Given the description of an element on the screen output the (x, y) to click on. 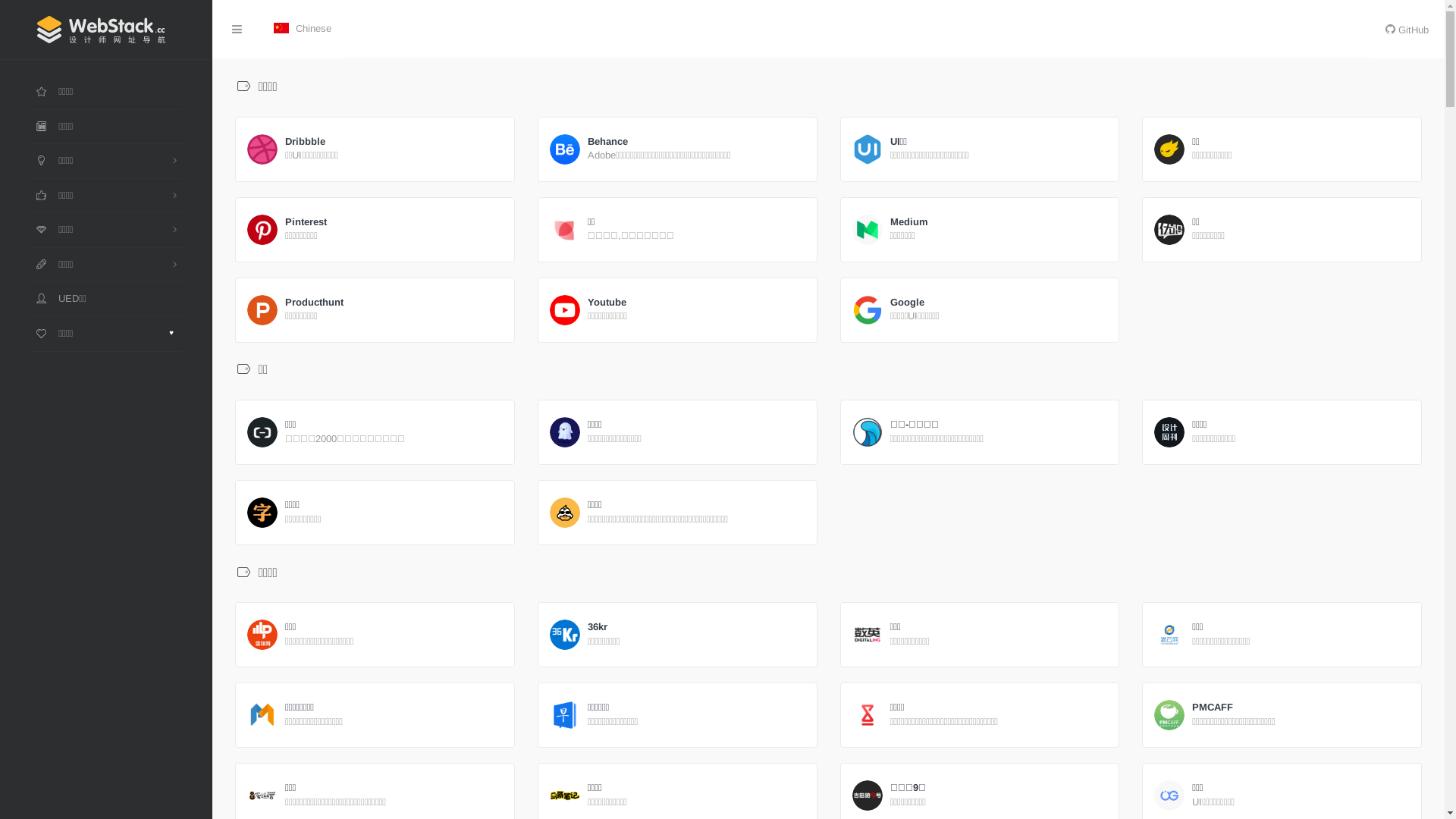
Youtube Element type: text (612, 302)
GitHub Element type: text (1406, 29)
Pinterest Element type: text (307, 222)
36kr Element type: text (609, 628)
Behance Element type: text (664, 141)
Google Element type: text (920, 302)
Producthunt Element type: text (314, 302)
Chinese Element type: text (302, 29)
PMCAFF Element type: text (1239, 708)
Dribbble Element type: text (317, 141)
Medium Element type: text (909, 222)
